Given the description of an element on the screen output the (x, y) to click on. 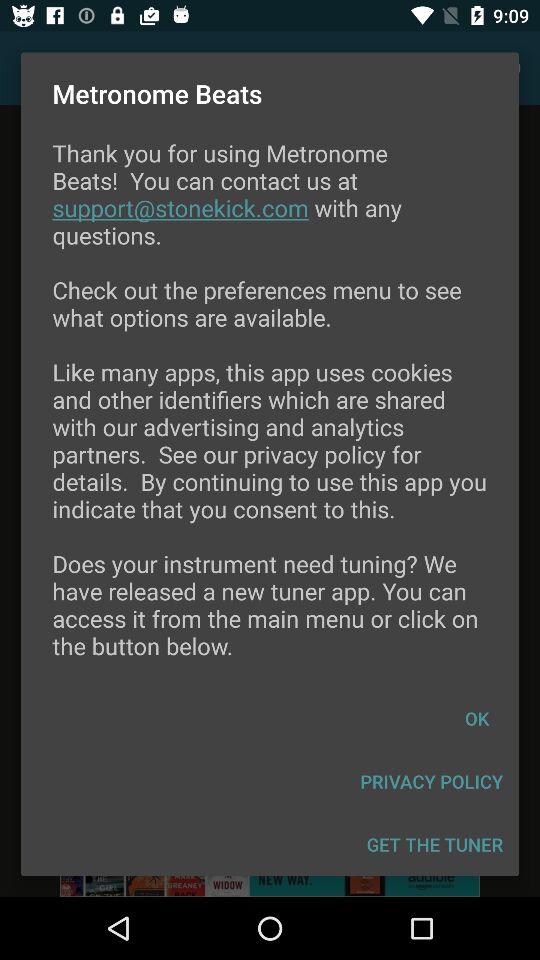
tap the icon below metronome beats (270, 411)
